Given the description of an element on the screen output the (x, y) to click on. 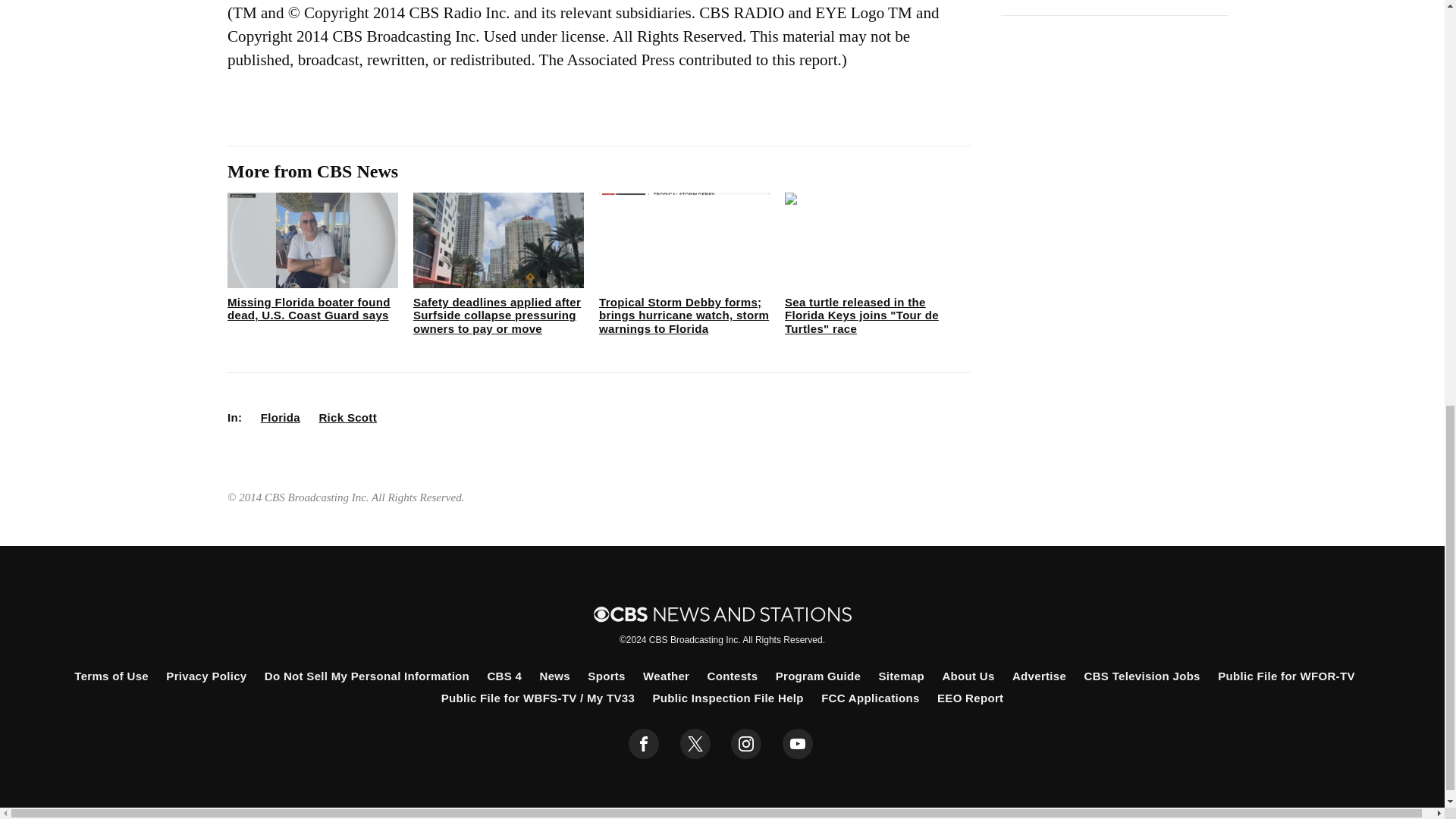
twitter (694, 743)
youtube (797, 743)
instagram (745, 743)
facebook (643, 743)
